Given the description of an element on the screen output the (x, y) to click on. 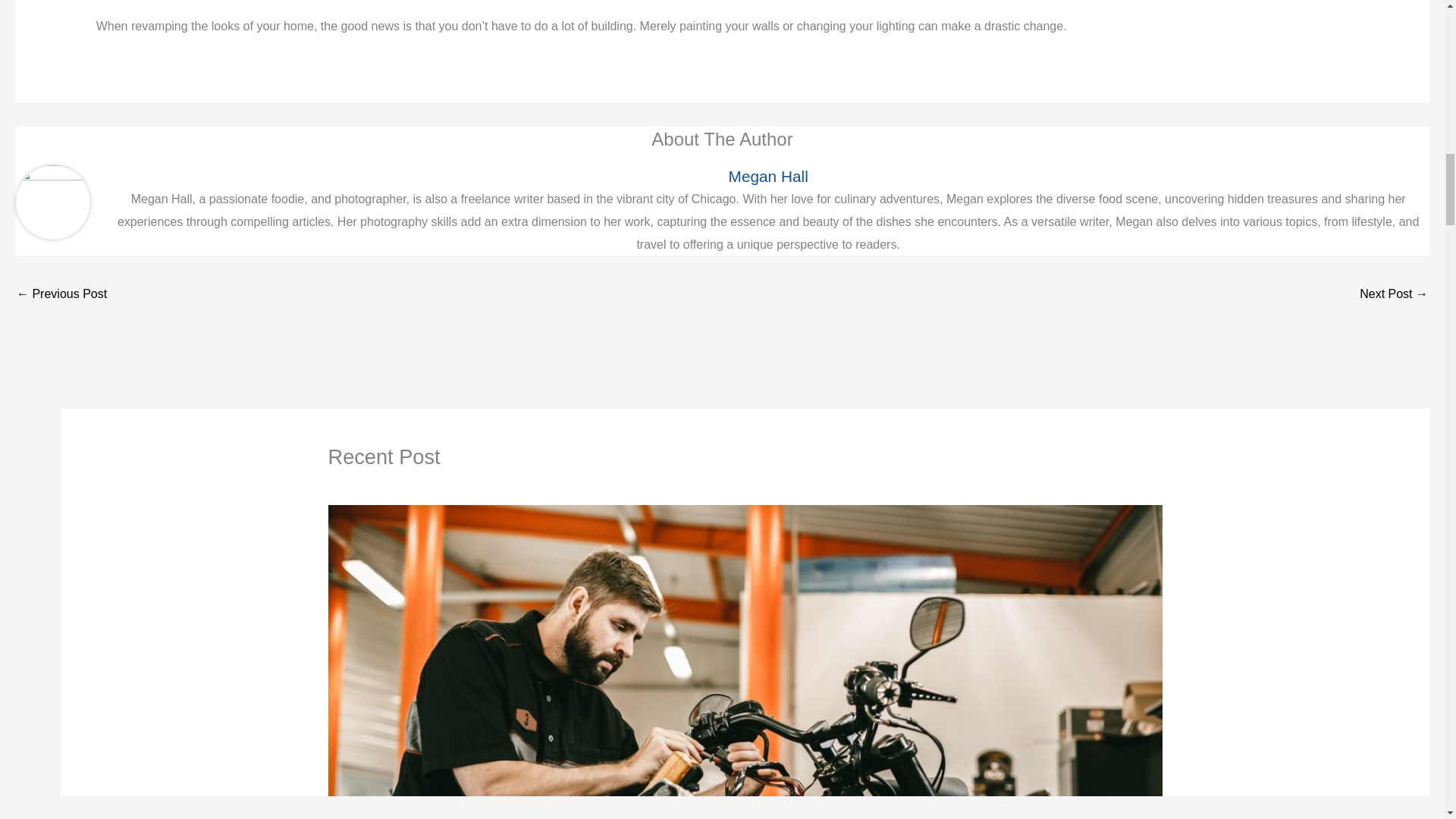
Megan Hall (767, 176)
What Cleaning Services are Worth the Money? (1393, 295)
